Given the description of an element on the screen output the (x, y) to click on. 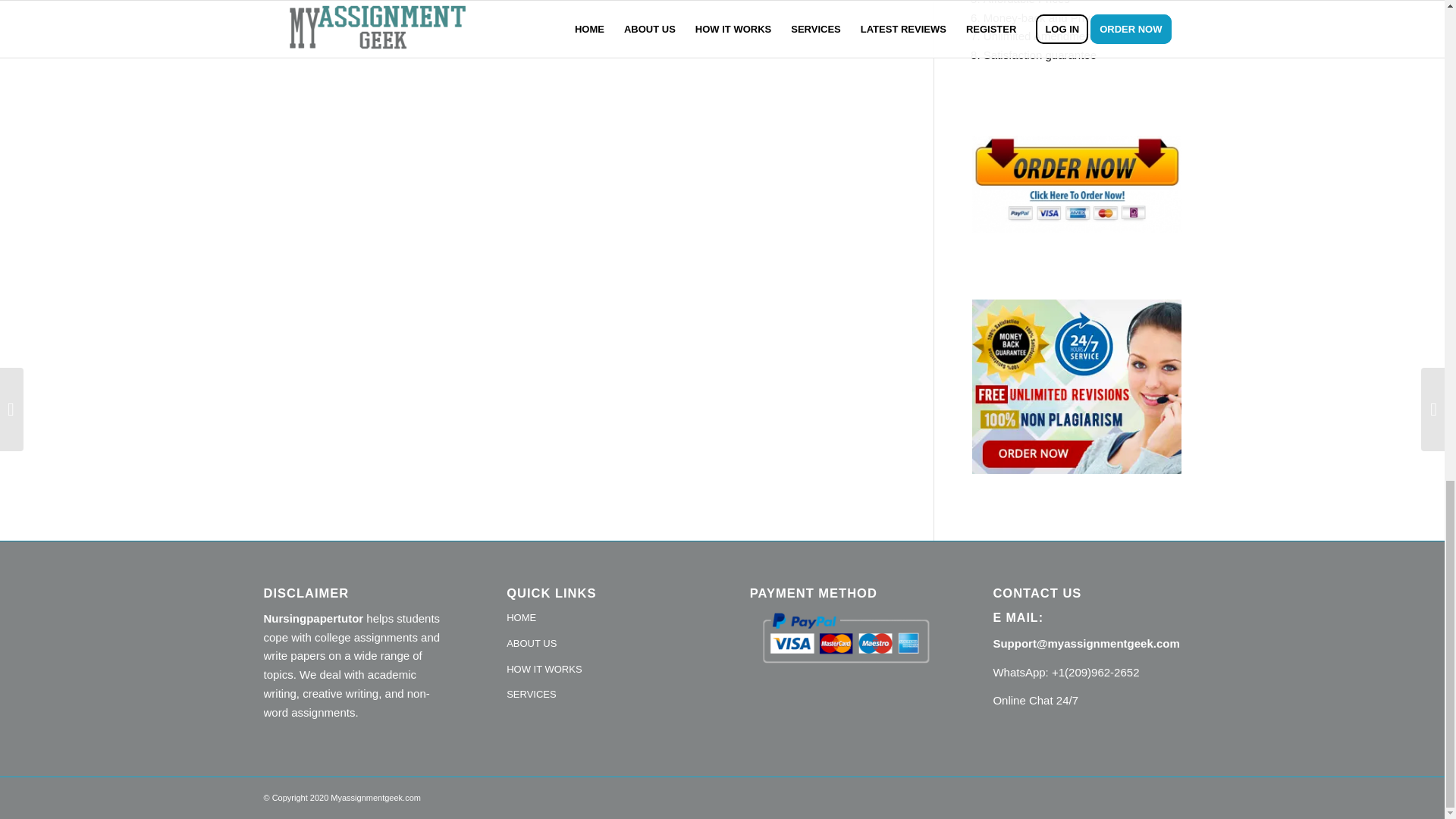
SERVICES (600, 695)
HOME (600, 618)
ABOUT US (600, 644)
HOW IT WORKS (600, 670)
